Given the description of an element on the screen output the (x, y) to click on. 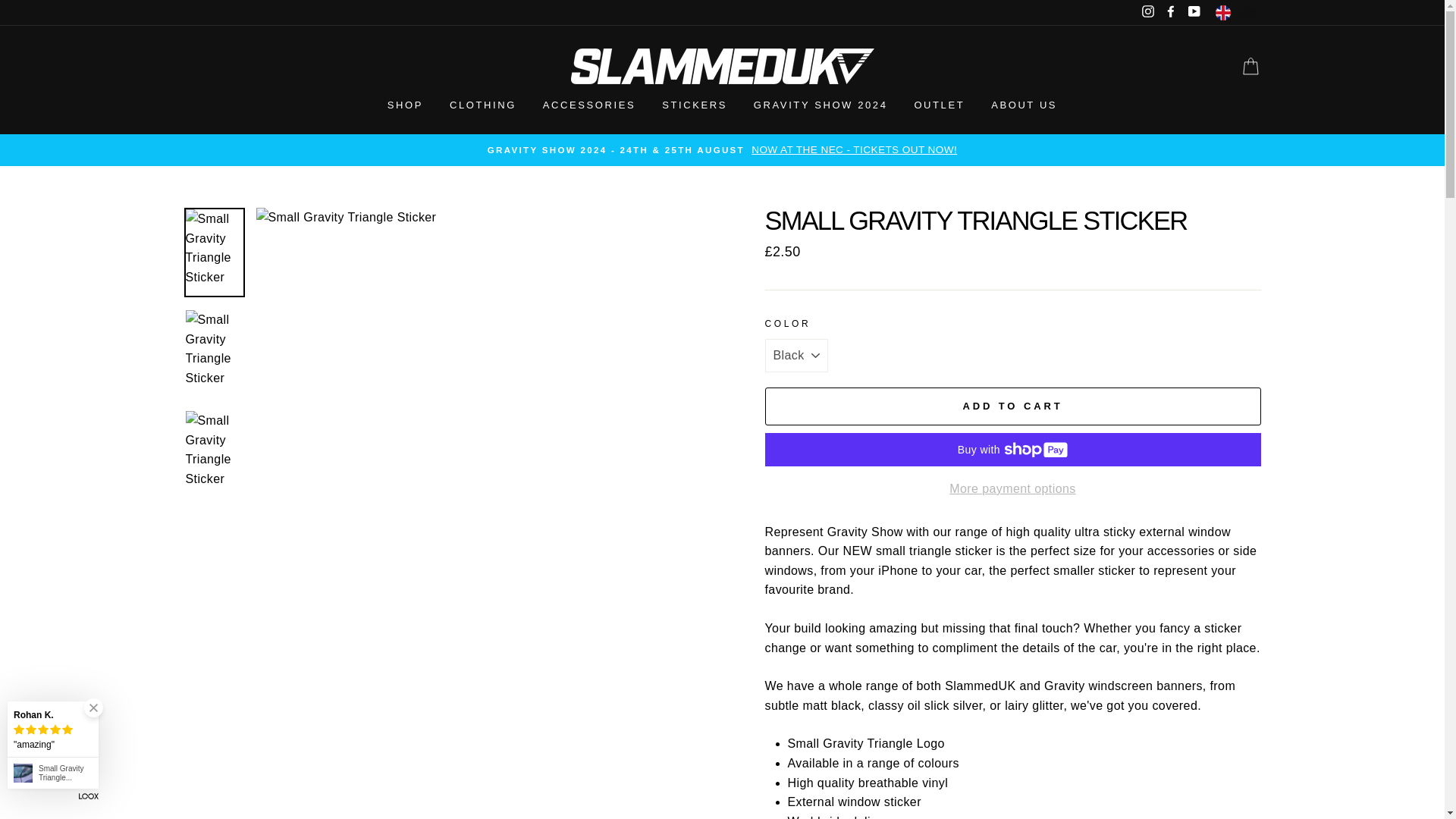
CART (1249, 65)
Instagram (1147, 12)
Facebook (1170, 12)
GBP (1236, 12)
Slammed UK on Facebook (1170, 12)
Slammed UK on Instagram (1147, 12)
SEARCH (183, 66)
SHOP (404, 104)
YouTube (1194, 12)
Slammed UK on YouTube (1194, 12)
